Given the description of an element on the screen output the (x, y) to click on. 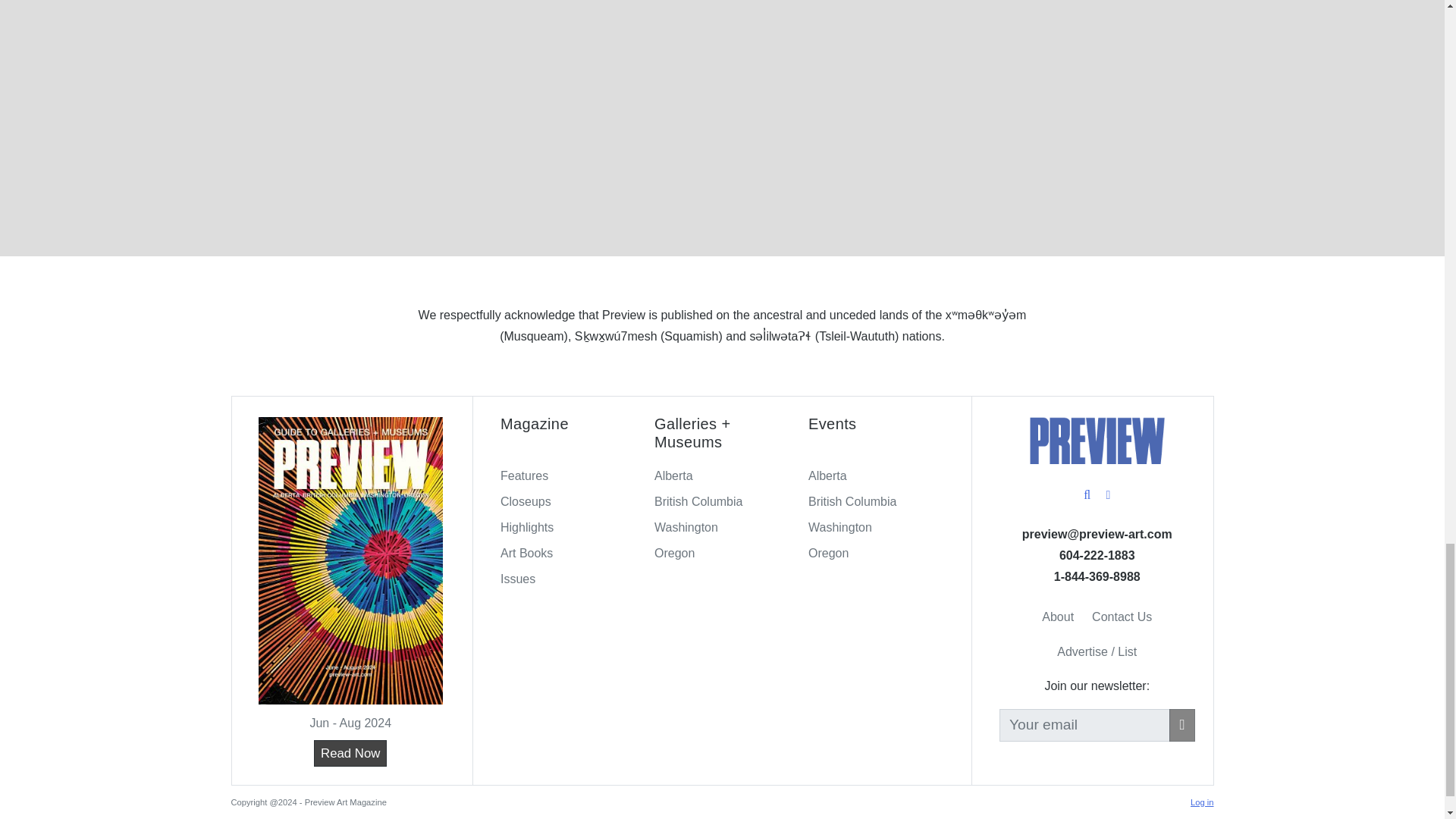
Phone  (1097, 576)
Read Jun - Aug 2024 (350, 753)
Phone  (1097, 554)
Preview Art Magazine Homepage (1097, 440)
Email  (1097, 533)
